Given the description of an element on the screen output the (x, y) to click on. 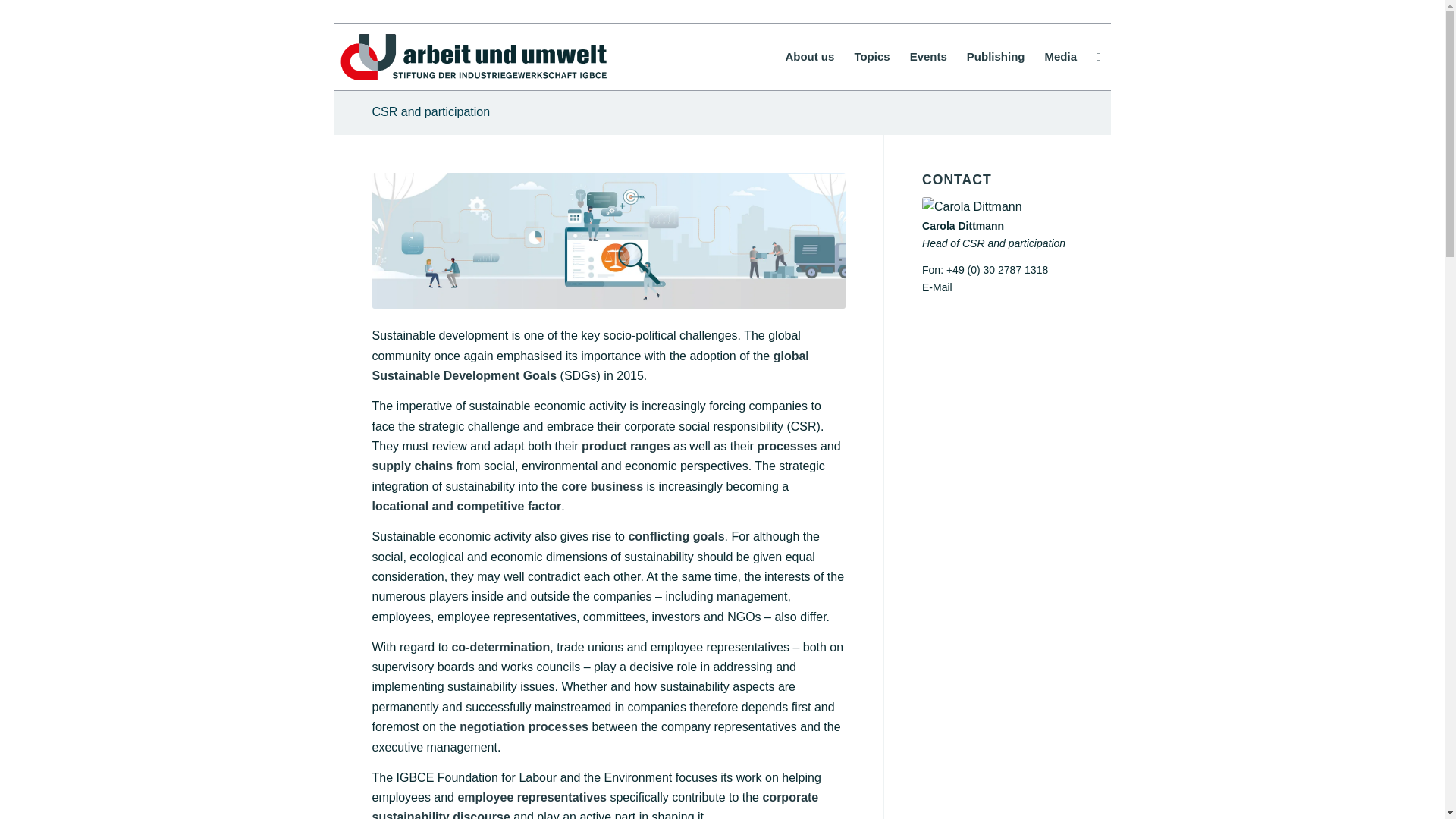
Permanent Link: CSR and participation (430, 111)
Arbeit und Umwelt Stiftung der IGBCE, Signet (473, 56)
CSR and participation (430, 111)
